Given the description of an element on the screen output the (x, y) to click on. 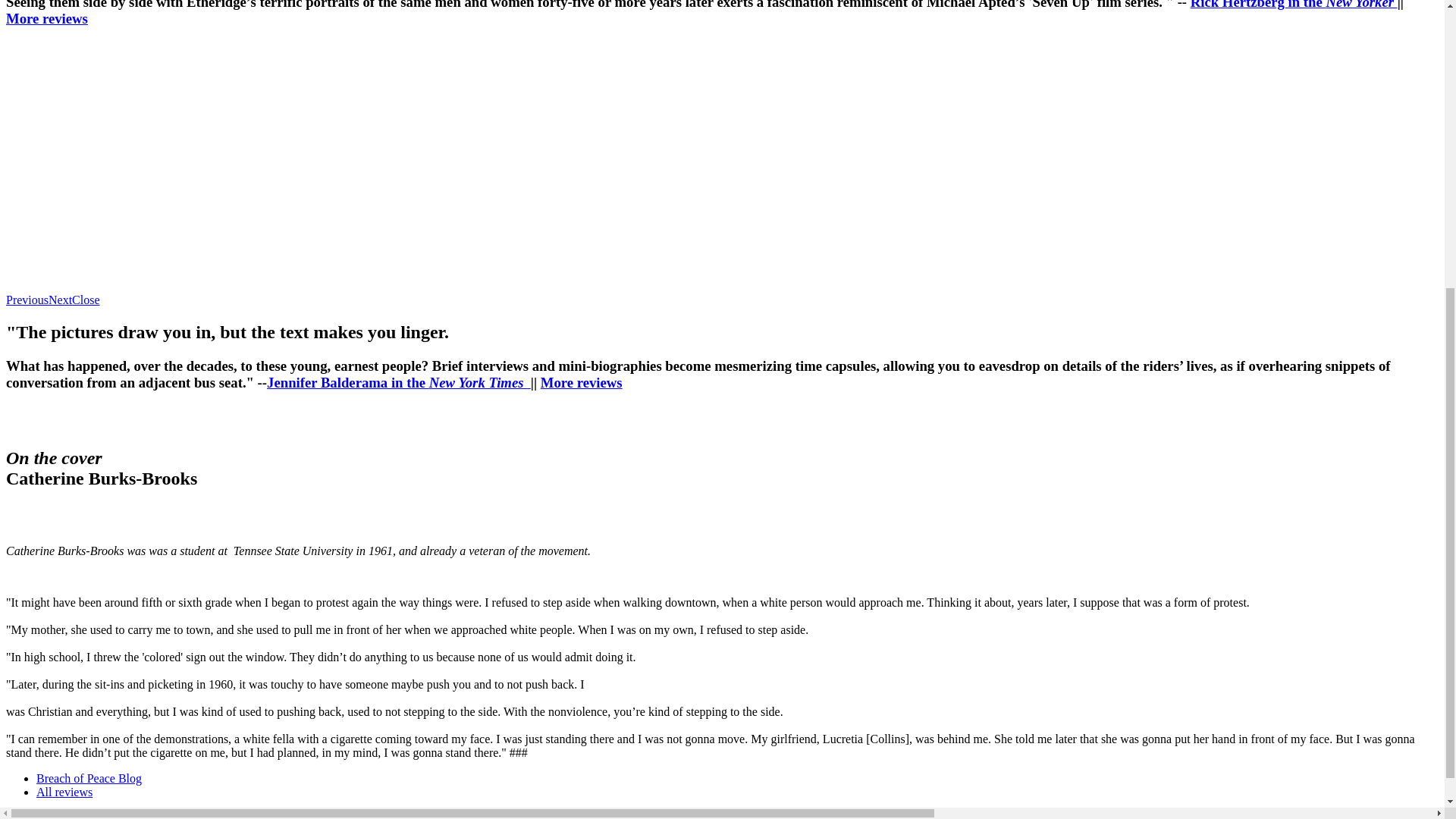
More reviews (581, 382)
New York Times (478, 382)
More reviews (46, 18)
Close (85, 299)
Rick Hertzberg in the New Yorker  (1294, 4)
Breach of Peace Blog (88, 778)
Next (59, 299)
Previous (26, 299)
Jennifer Balderama in the (347, 382)
All reviews (64, 791)
